Given the description of an element on the screen output the (x, y) to click on. 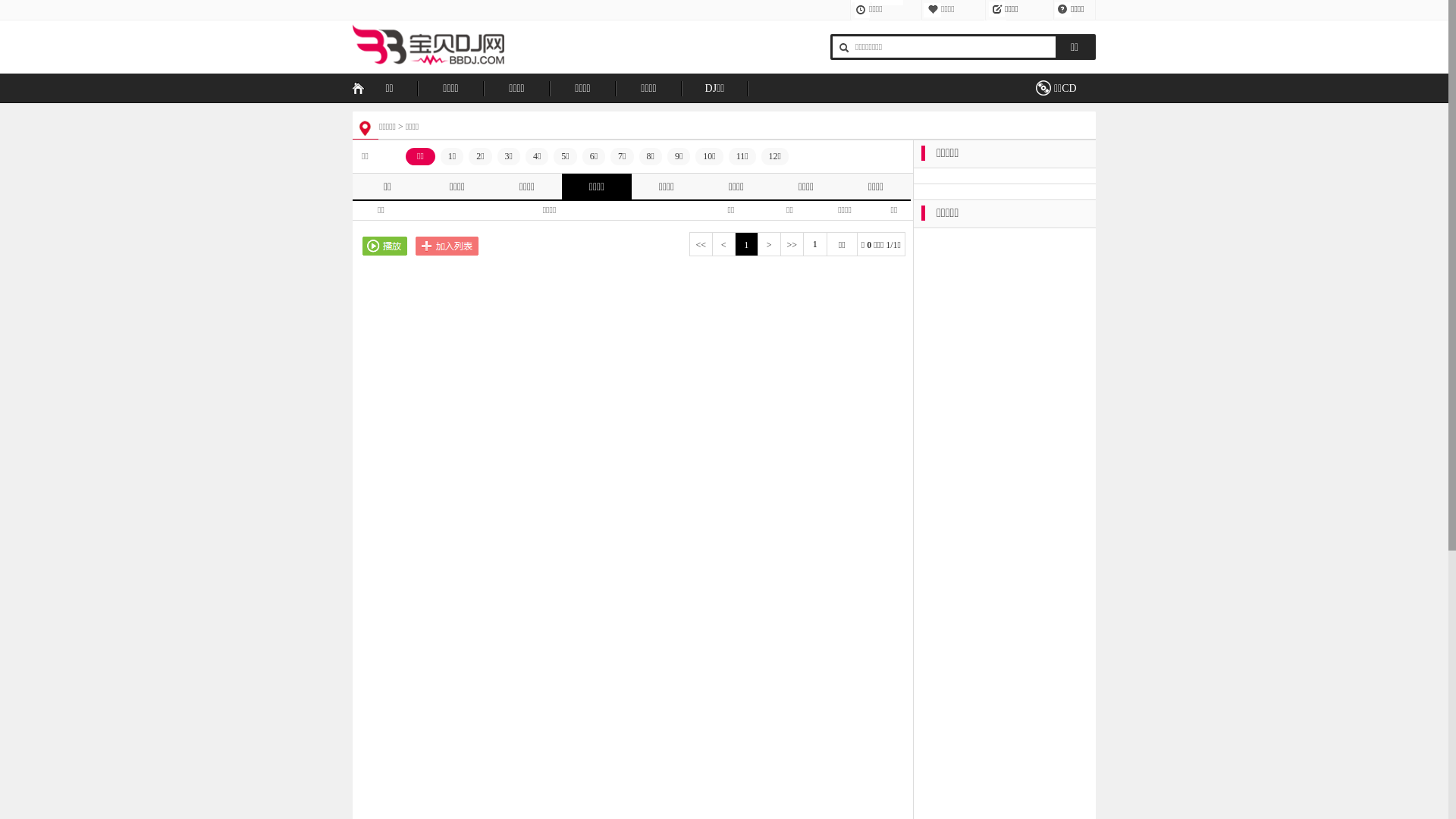
1 Element type: text (745, 244)
